Given the description of an element on the screen output the (x, y) to click on. 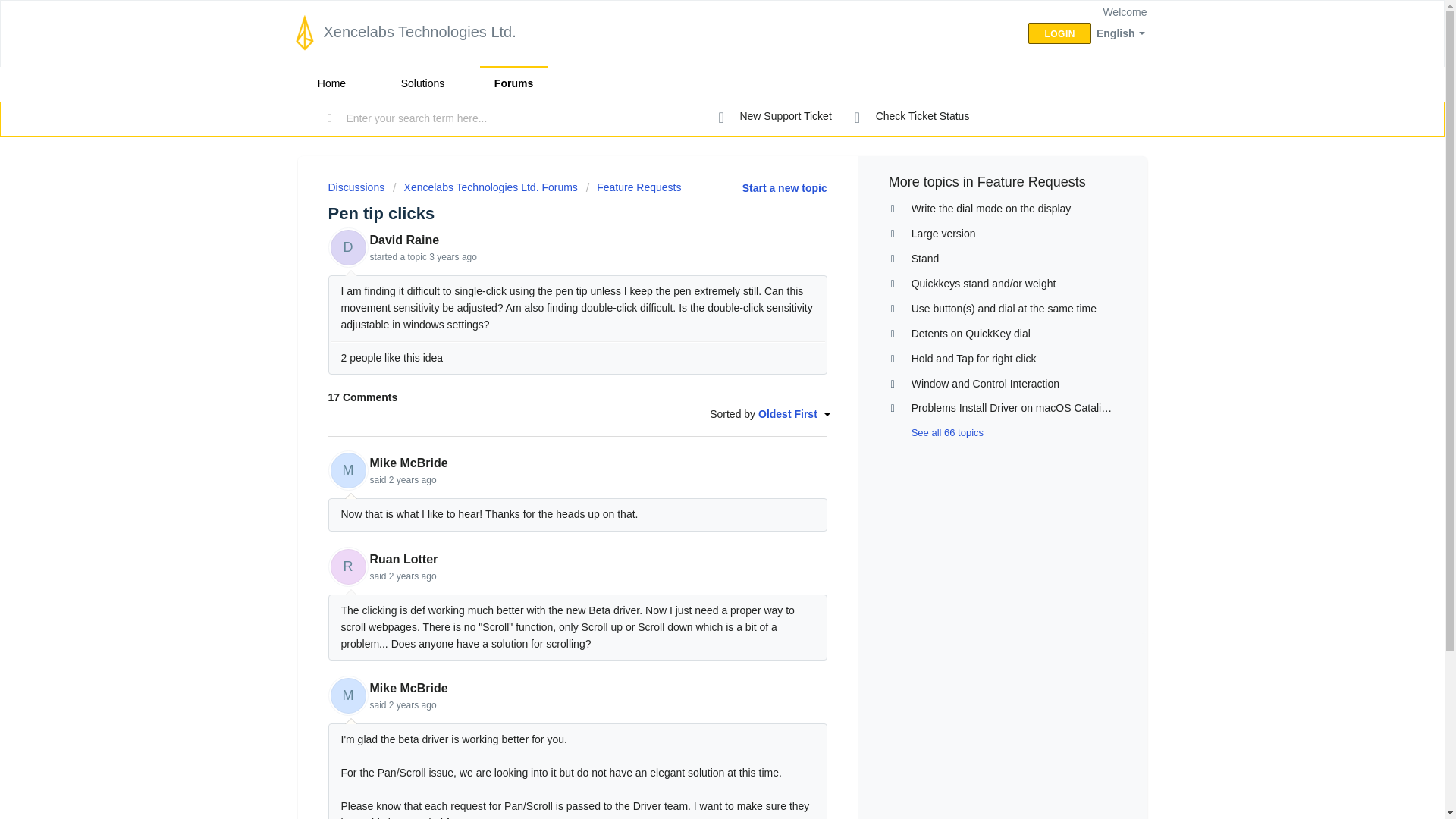
New support ticket (775, 116)
New Support Ticket (775, 116)
Solutions (422, 83)
Mon, Aug 22, 2022 at  6:42 PM (412, 480)
Oldest First (792, 413)
Fri, May 28, 2021 at  6:54 PM (453, 256)
Check Ticket Status (911, 116)
See all 66 topics (936, 432)
Check ticket status (911, 116)
Large version (943, 233)
Home (331, 83)
Forums (513, 83)
See all 66 topics (936, 432)
Tue, Aug 23, 2022 at  6:28 AM (412, 575)
LOGIN (1058, 33)
